Given the description of an element on the screen output the (x, y) to click on. 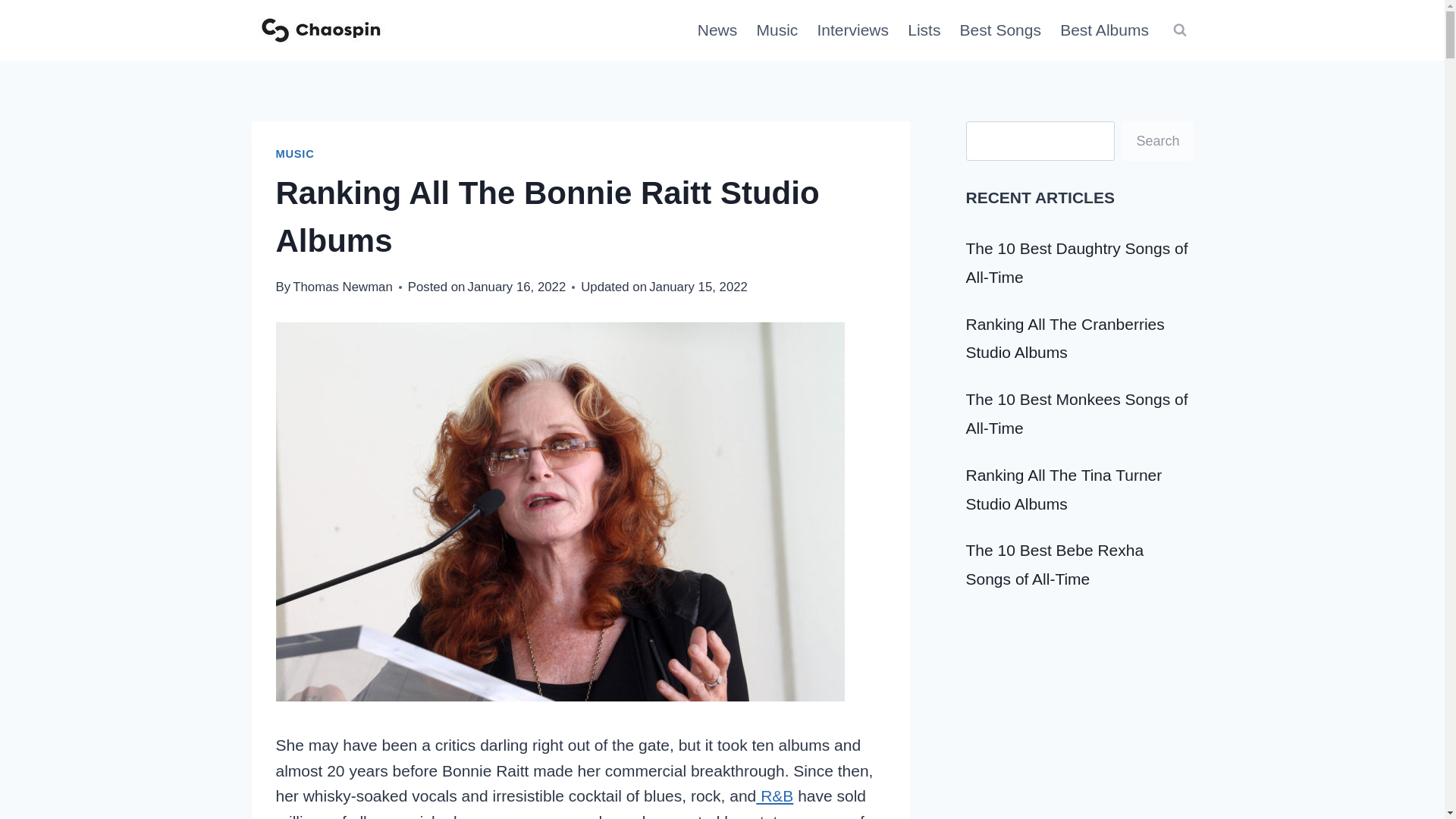
MUSIC (295, 153)
Best Songs (1000, 30)
News (716, 30)
Thomas Newman (342, 287)
Interviews (853, 30)
Music (777, 30)
Lists (924, 30)
Best Albums (1104, 30)
